Given the description of an element on the screen output the (x, y) to click on. 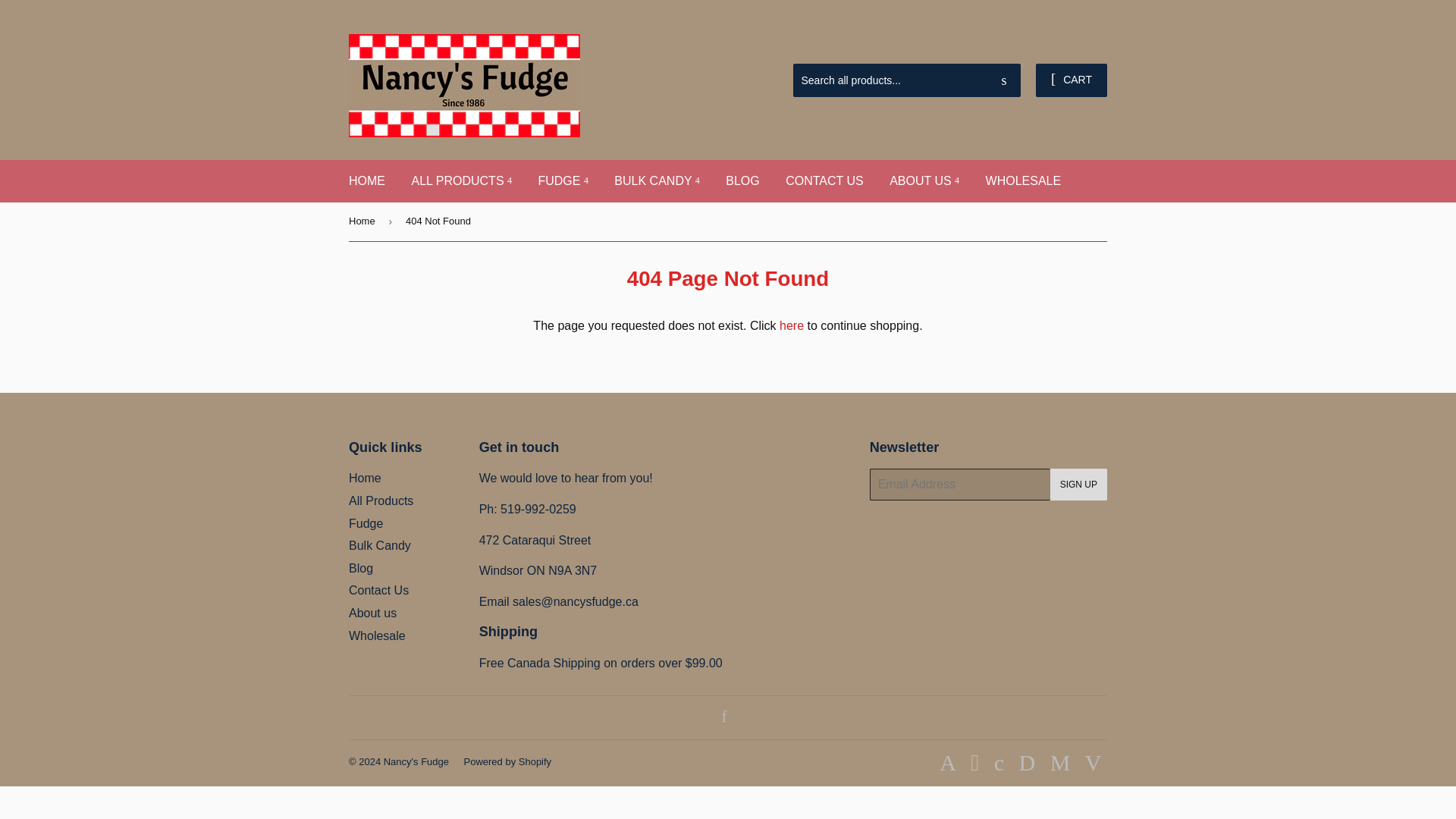
BULK CANDY (656, 180)
ABOUT US (924, 180)
WHOLESALE (1023, 180)
FUDGE (561, 180)
CONTACT US (824, 180)
ALL PRODUCTS (460, 180)
Search (1003, 81)
HOME (366, 180)
CART (1070, 80)
BLOG (742, 180)
